Given the description of an element on the screen output the (x, y) to click on. 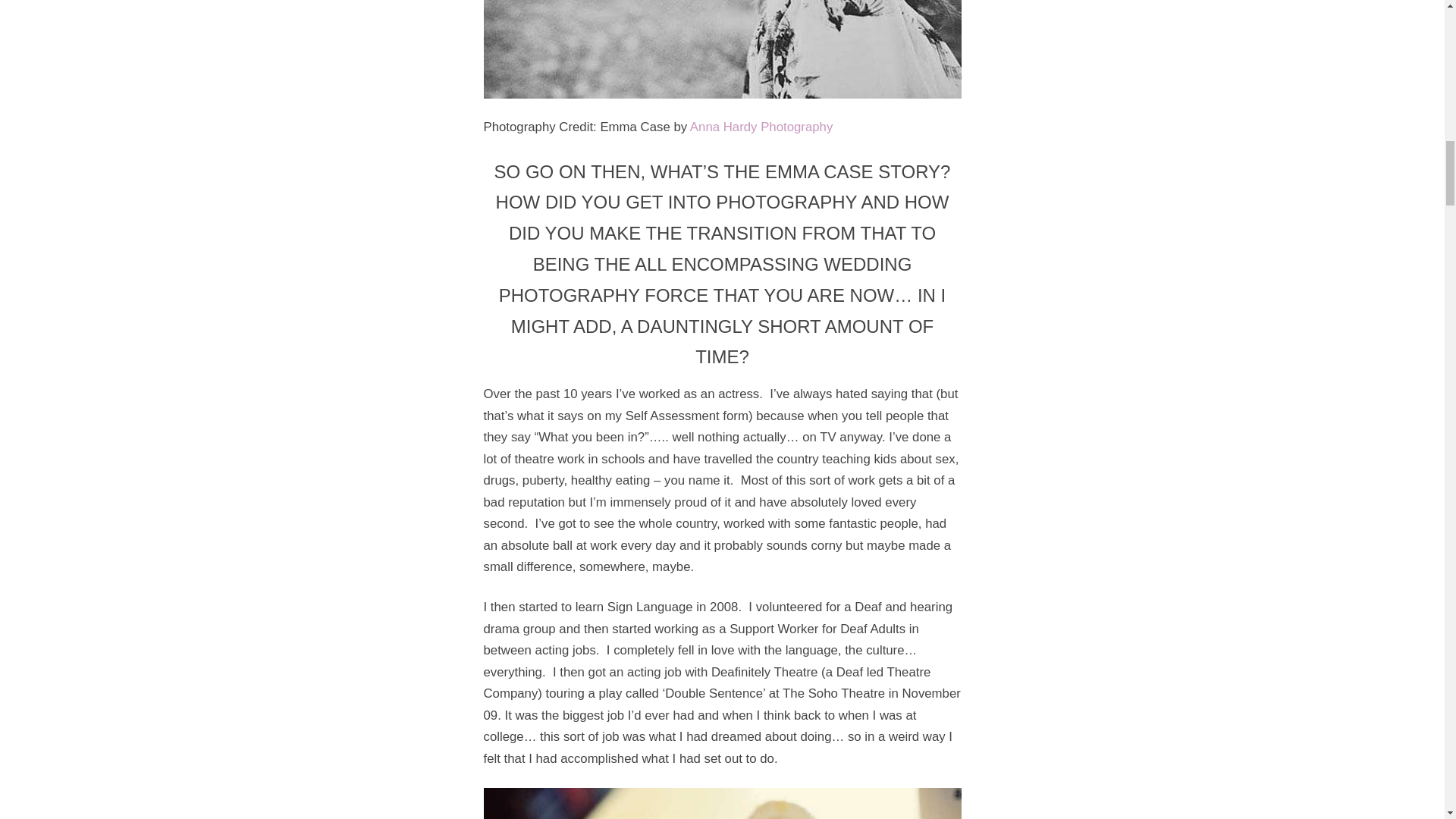
Emma Case-33 (721, 803)
emma case black and white (721, 49)
Anna Hardy Photography (761, 126)
